Given the description of an element on the screen output the (x, y) to click on. 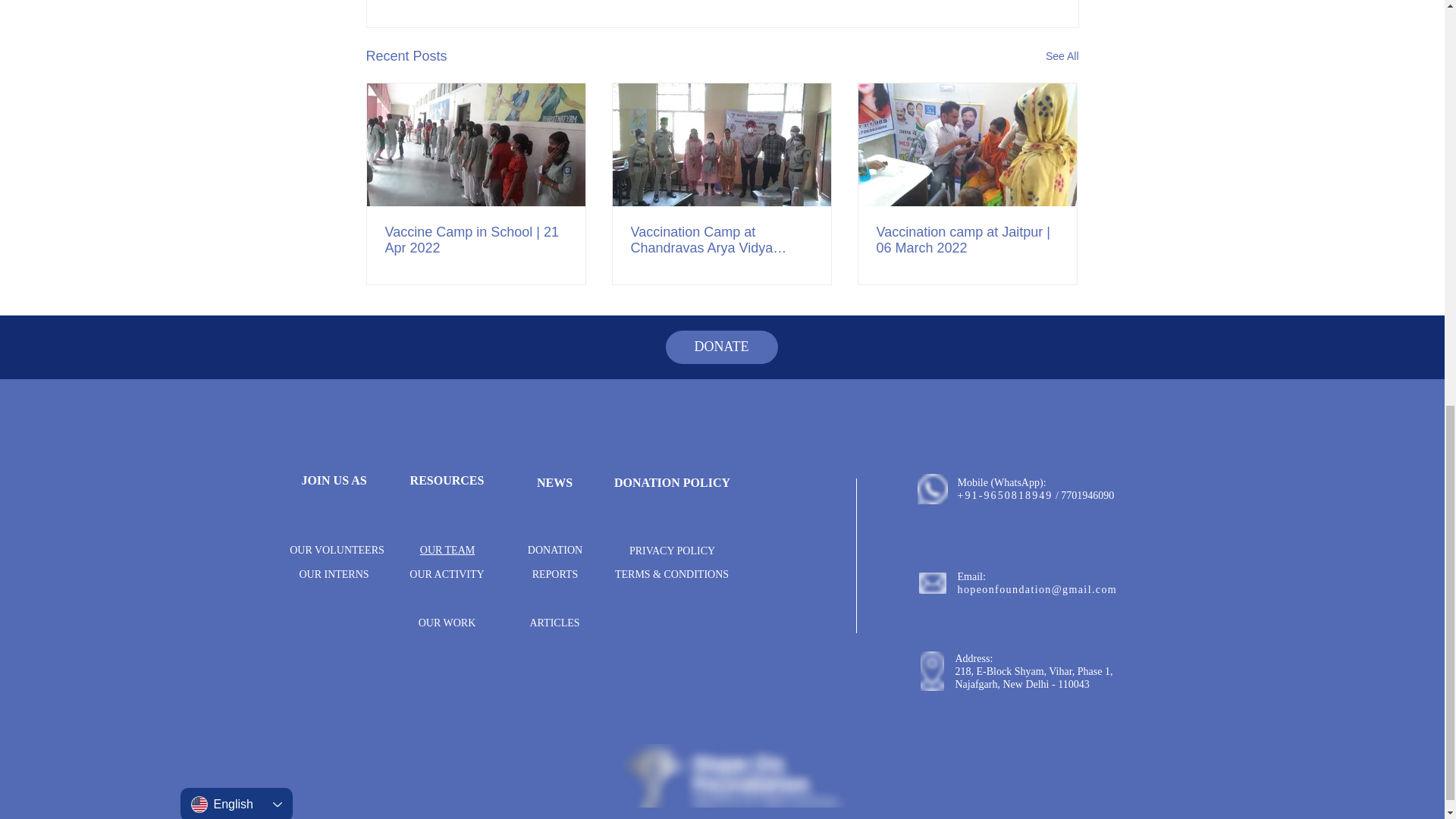
See All (1061, 56)
TVB ICONS-04.png (932, 582)
TVB ICONS-05.png (932, 489)
DONATE (721, 346)
OUR INTERNS (333, 573)
OUR VOLUNTEERS (336, 550)
